Given the description of an element on the screen output the (x, y) to click on. 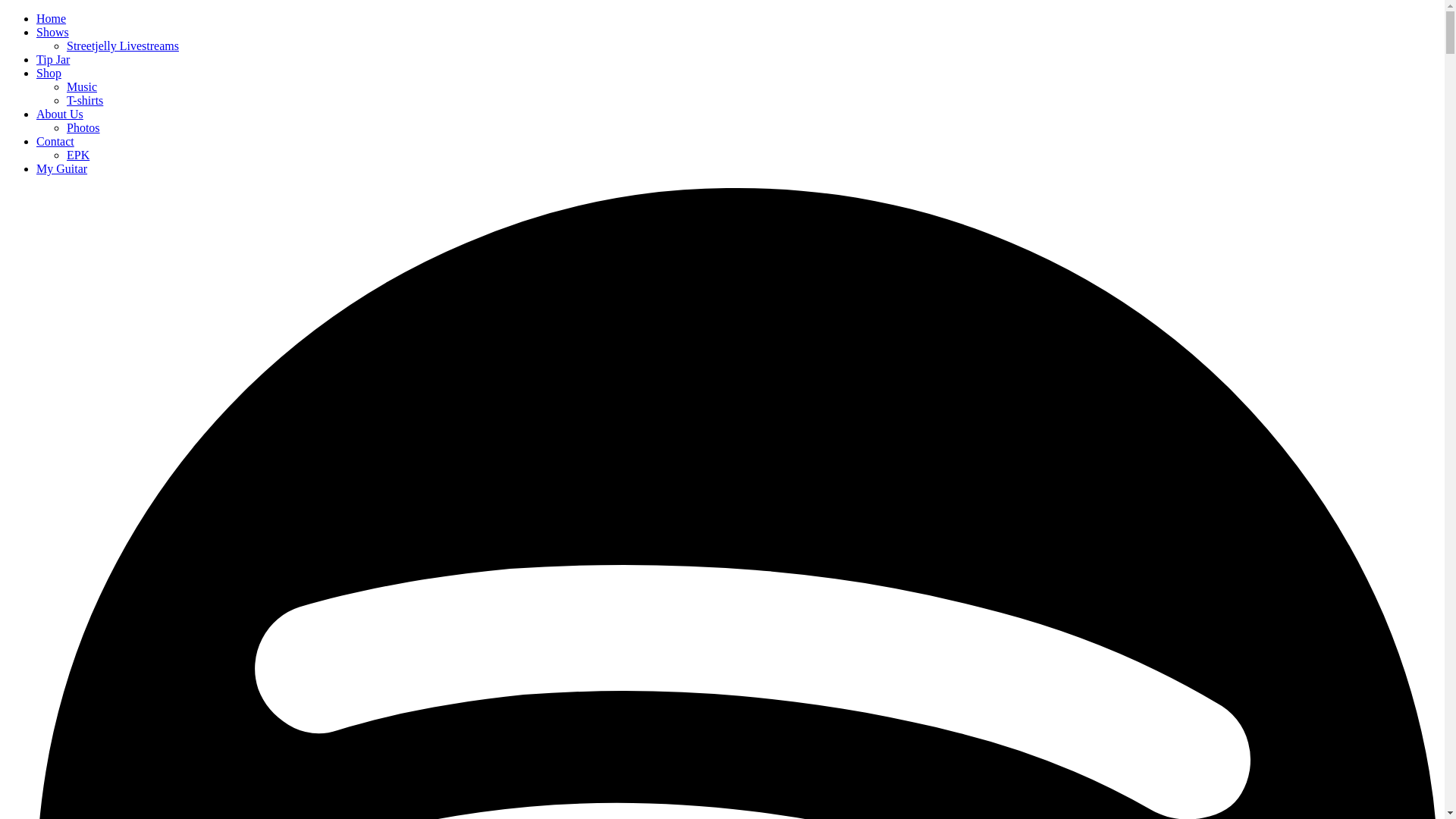
Shop Element type: text (48, 72)
Photos Element type: text (83, 127)
Shows Element type: text (52, 31)
Music Element type: text (81, 86)
Tip Jar Element type: text (52, 59)
About Us Element type: text (59, 113)
My Guitar Element type: text (61, 168)
Streetjelly Livestreams Element type: text (122, 45)
T-shirts Element type: text (84, 100)
EPK Element type: text (77, 154)
Contact Element type: text (55, 140)
Home Element type: text (50, 18)
